Given the description of an element on the screen output the (x, y) to click on. 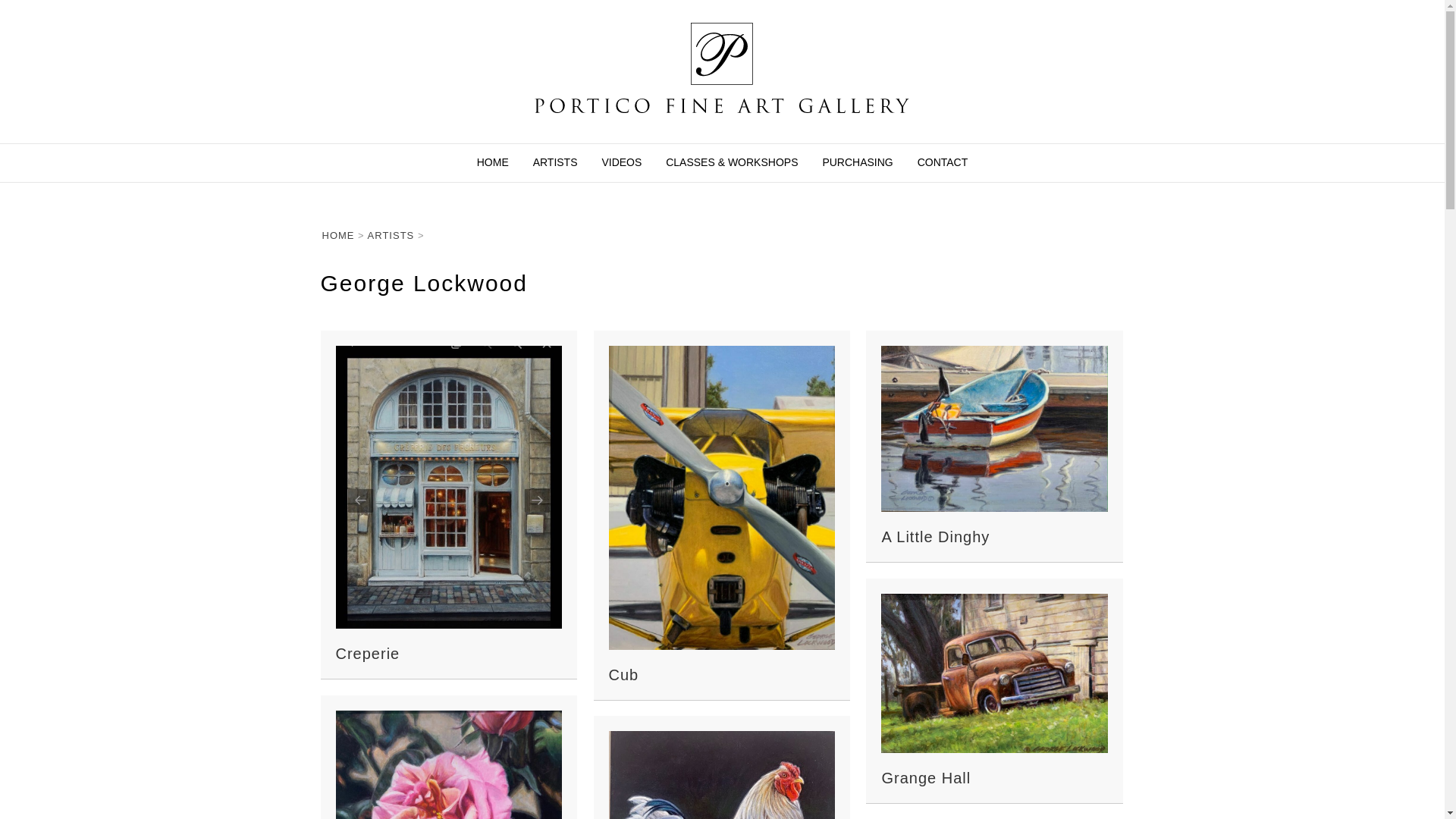
Cub (623, 674)
A Little Dinghy (935, 536)
Creperie (366, 653)
HOME (337, 235)
VIDEOS (621, 162)
ARTISTS (555, 162)
Cub (623, 674)
Creperie (448, 486)
Grange Hall (925, 777)
Portico Fine Art Gallery home page (492, 162)
Grange Hall (994, 672)
A Little Dinghy (935, 536)
HOME (492, 162)
Cub (721, 496)
